Given the description of an element on the screen output the (x, y) to click on. 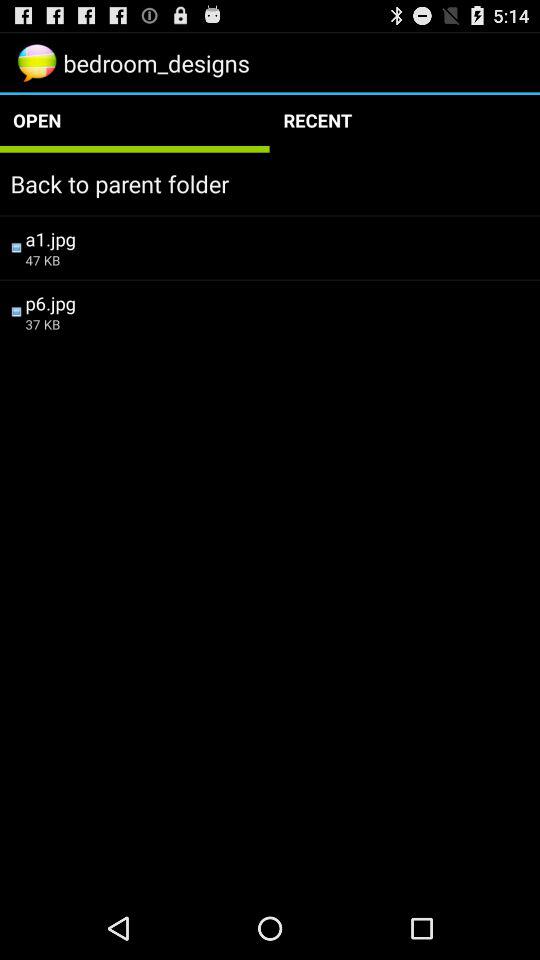
open 37 kb (277, 324)
